Given the description of an element on the screen output the (x, y) to click on. 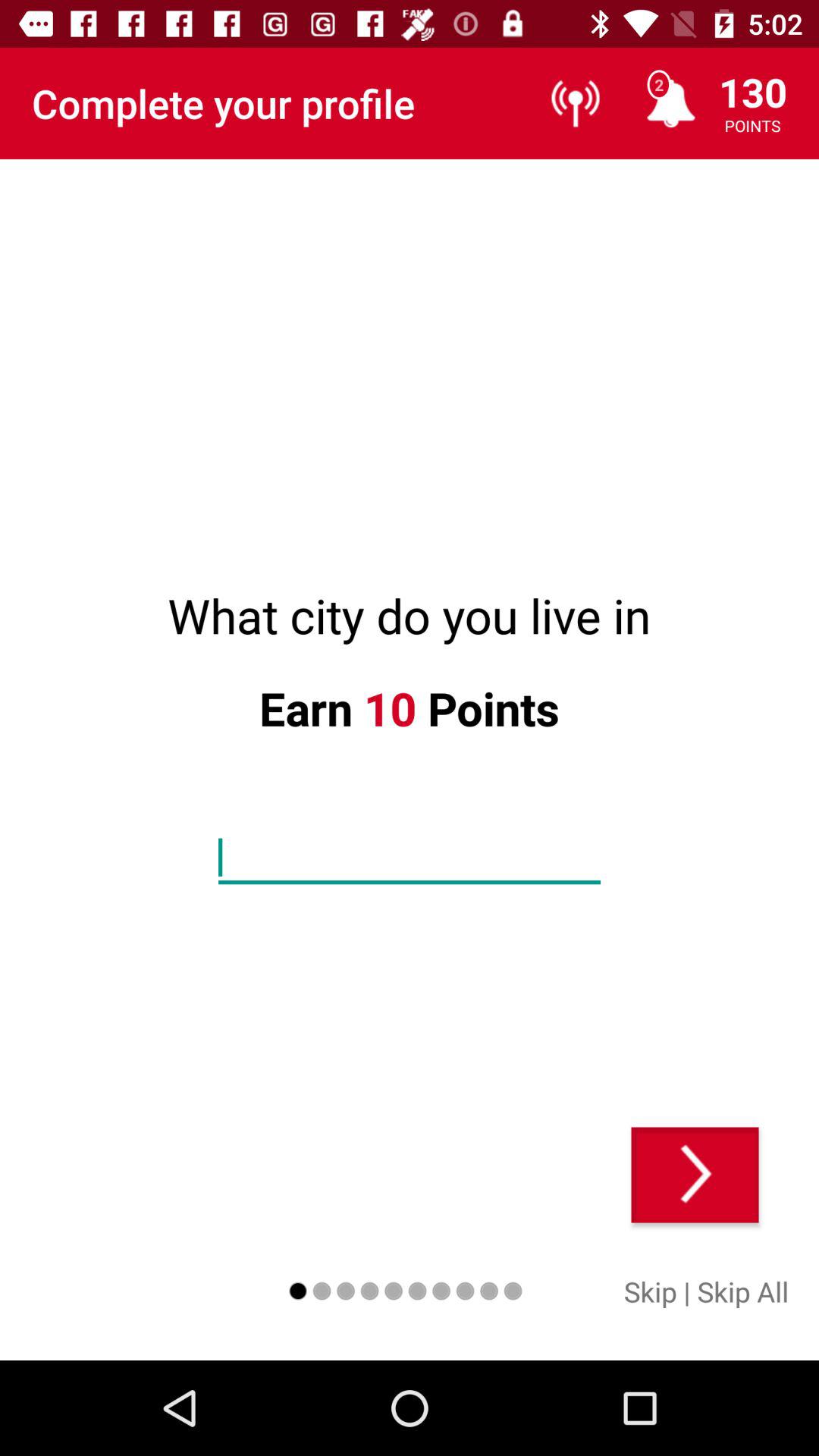
turn off the item below the what city do icon (694, 1174)
